Given the description of an element on the screen output the (x, y) to click on. 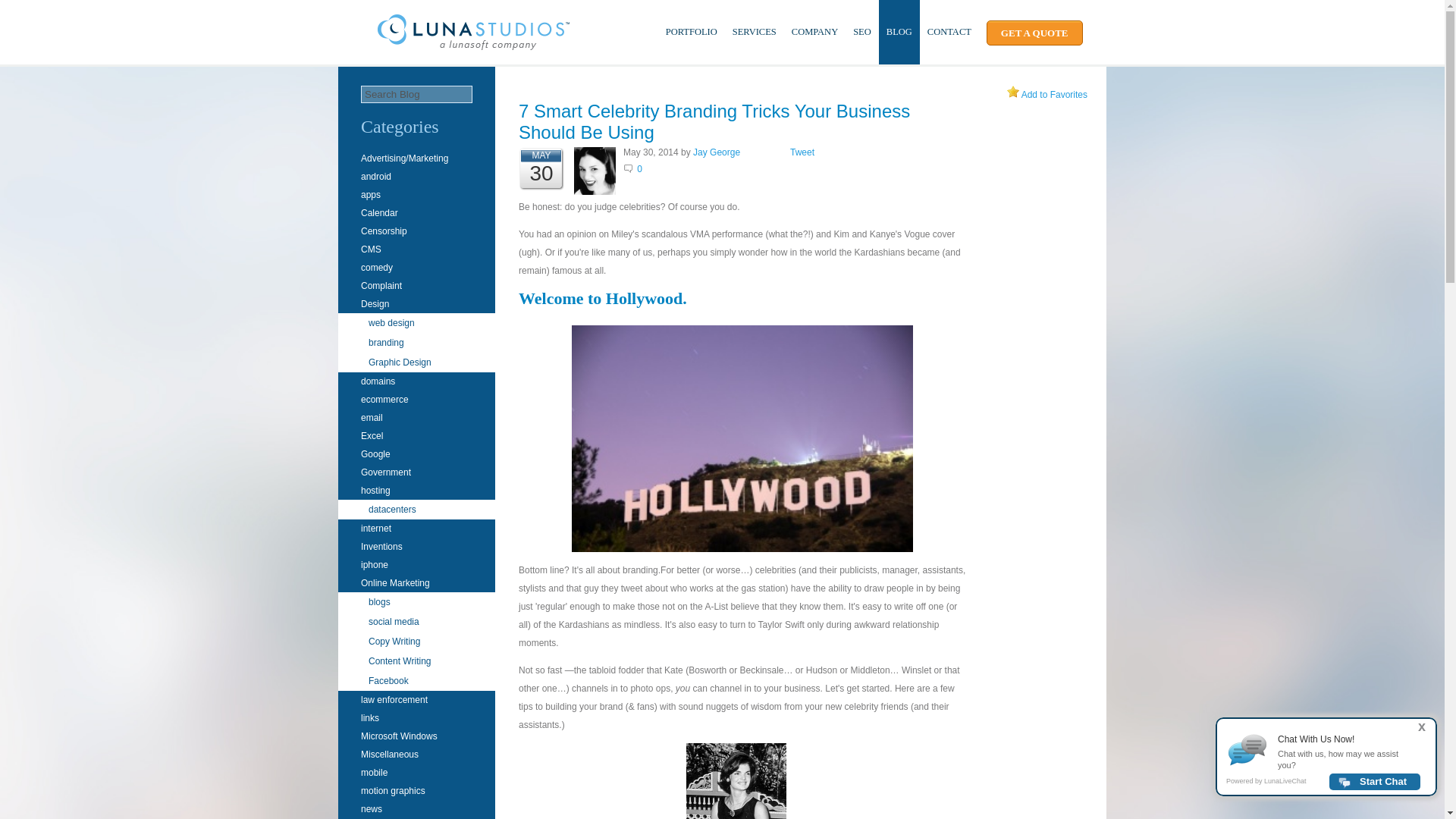
Search Blog (416, 94)
GET A QUOTE (1035, 32)
Search Blog (416, 94)
web design quote (1035, 32)
utah web design (473, 48)
Jay George (716, 152)
website design utah (473, 32)
Tweet (801, 152)
Contact Firm (949, 32)
COMPANY (814, 32)
